Given the description of an element on the screen output the (x, y) to click on. 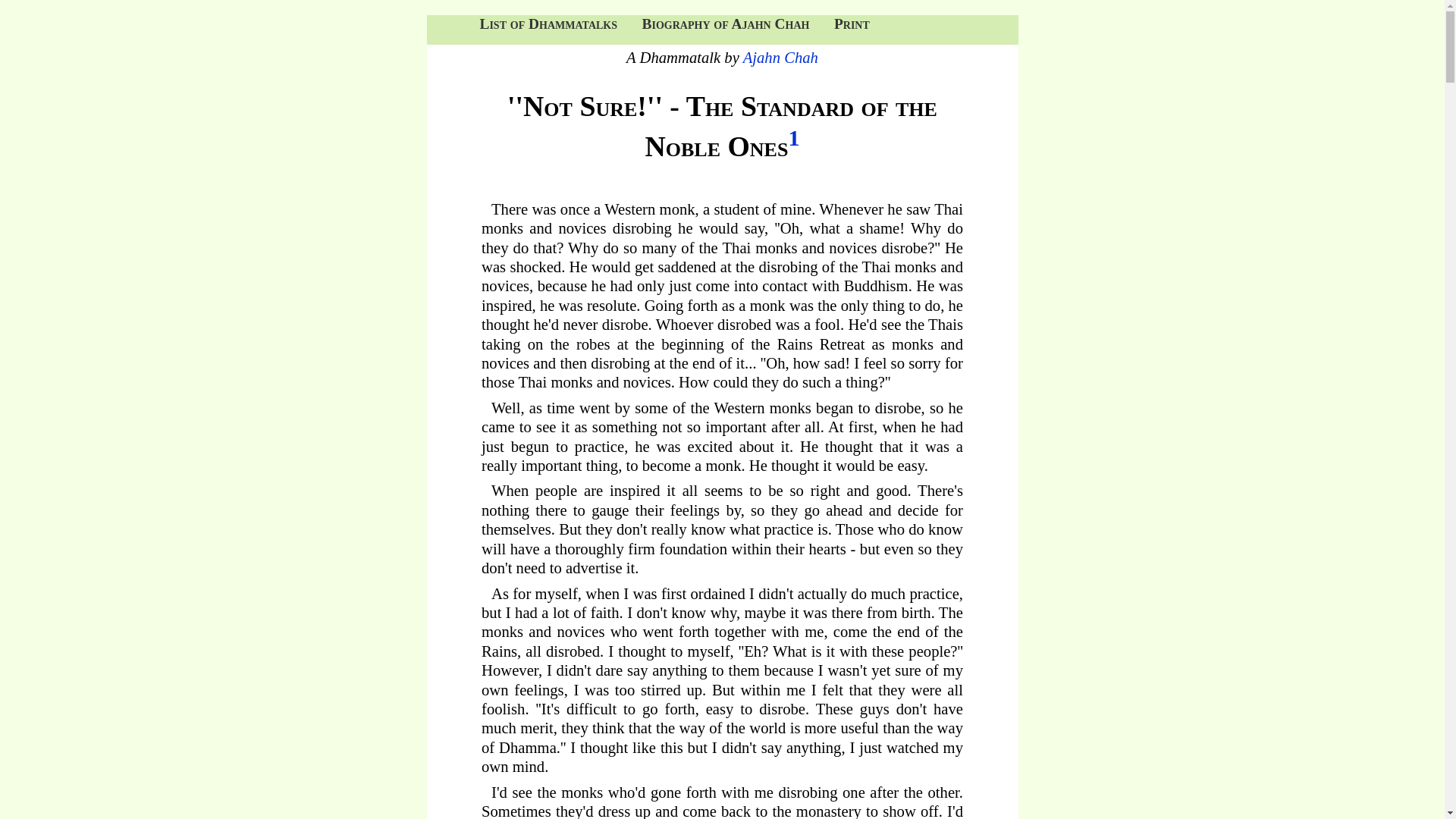
List of Dhammatalks (548, 23)
Ajahn Chah (780, 57)
Biography of Ajahn Chah (725, 23)
Print (851, 23)
